Given the description of an element on the screen output the (x, y) to click on. 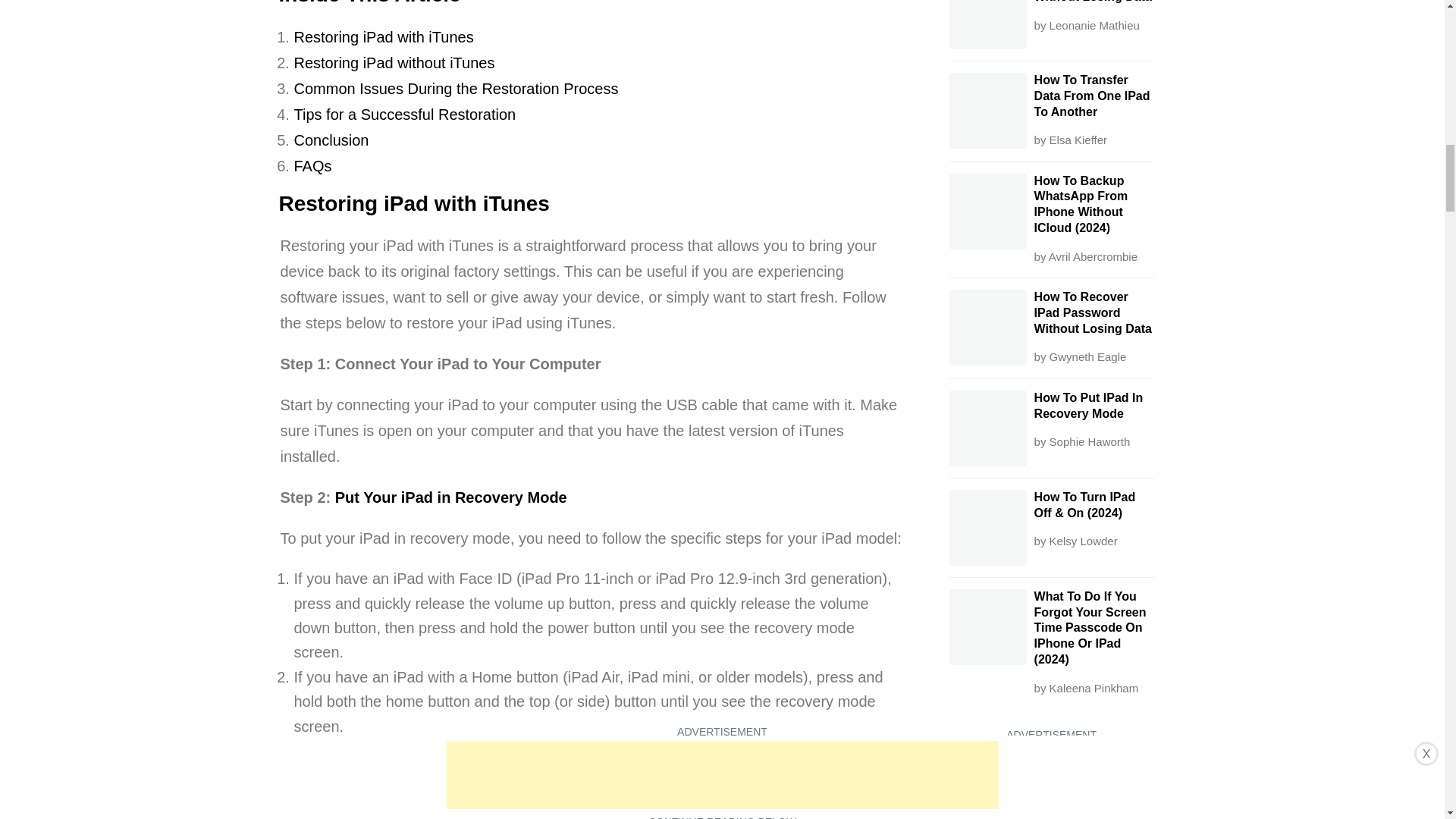
Put Your iPad in Recovery Mode (450, 497)
